Given the description of an element on the screen output the (x, y) to click on. 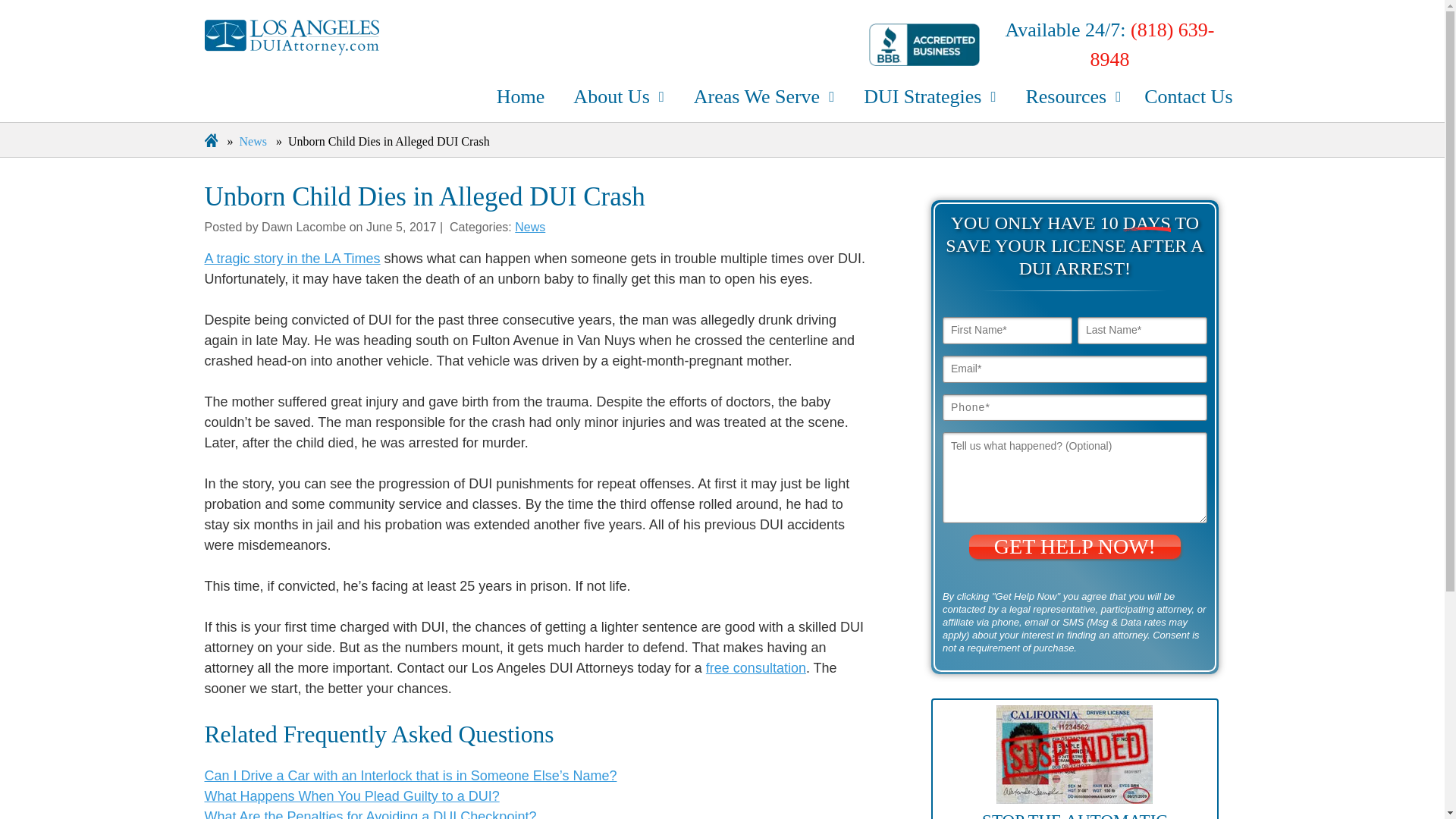
Get Help Now! (1074, 546)
IMMEDIATE ATTORNEY RESPONSE (661, 661)
